Given the description of an element on the screen output the (x, y) to click on. 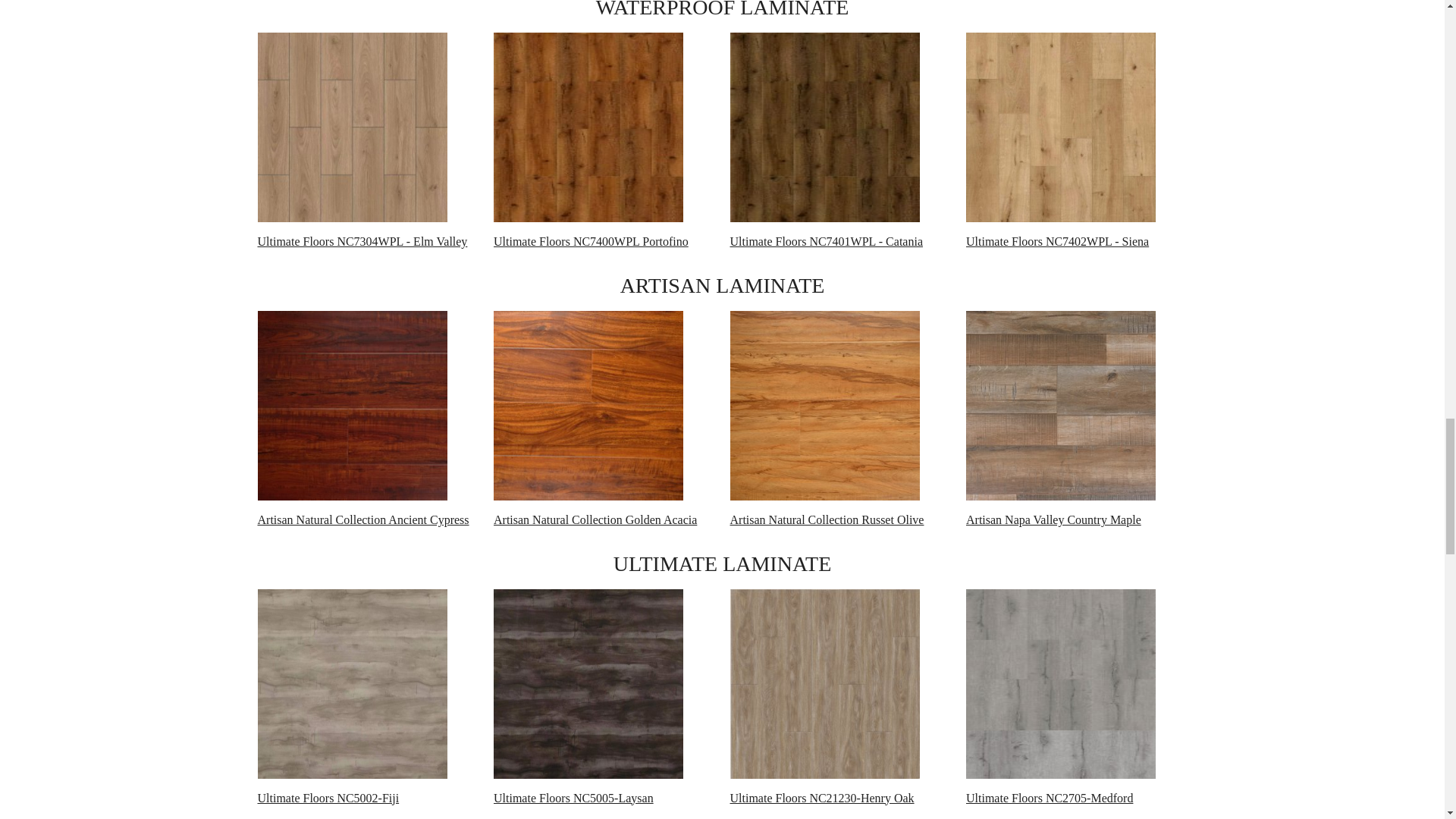
Ultimate Floors NC5005-Laysan (587, 683)
Artisan Natural Collection Russet Olive (823, 405)
Artisan Napa Valley Country Maple (1061, 405)
Ultimate Floors NC7304WPL - Elm Valley (351, 126)
Ultimate Floors NC2705-Medford (1061, 683)
Artisan Natural Collection Ancient Cypress (351, 405)
Ultimate Floors NC7401WPL - Catania (823, 126)
Ultimate Floors NC7400WPL Portofino (587, 126)
Ultimate Floors NC7402WPL - Siena (1061, 126)
Ultimate Floors NC21230-Henry Oak (823, 683)
